Given the description of an element on the screen output the (x, y) to click on. 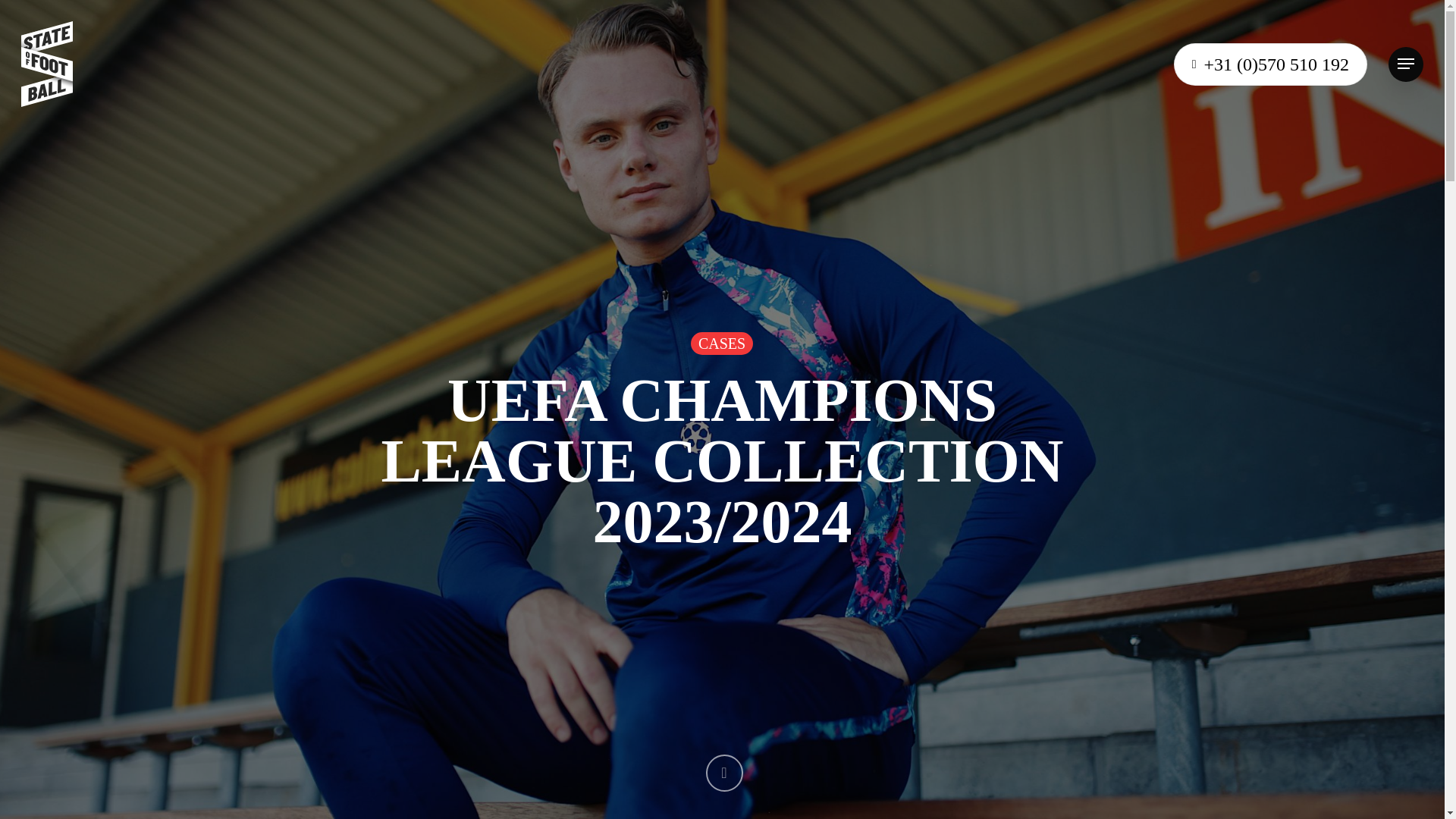
Menu (1406, 64)
CASES (721, 343)
